Given the description of an element on the screen output the (x, y) to click on. 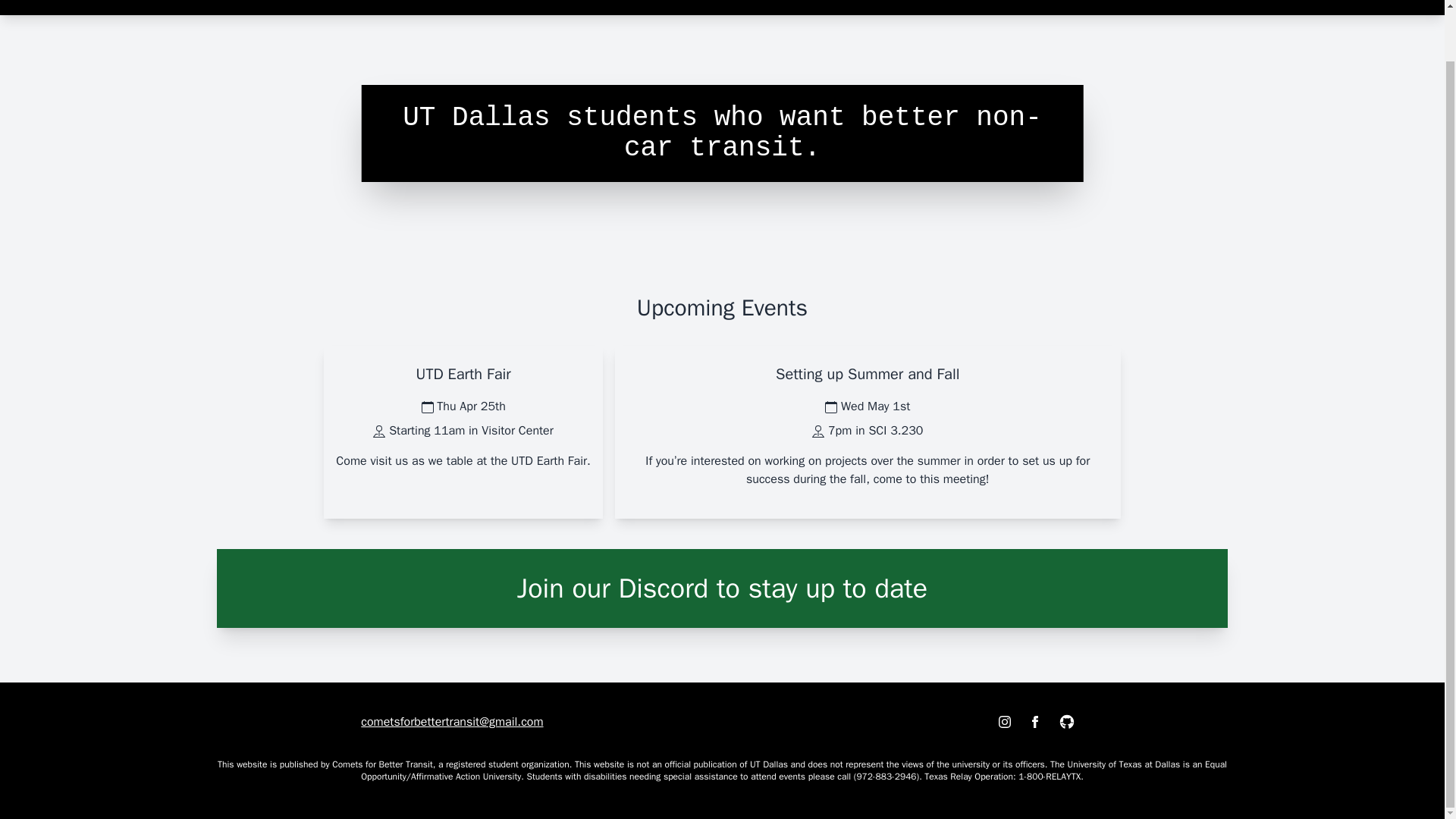
Home (1090, 1)
Join our Discord to stay up to date (721, 588)
Contact (1361, 1)
About (1153, 1)
